Given the description of an element on the screen output the (x, y) to click on. 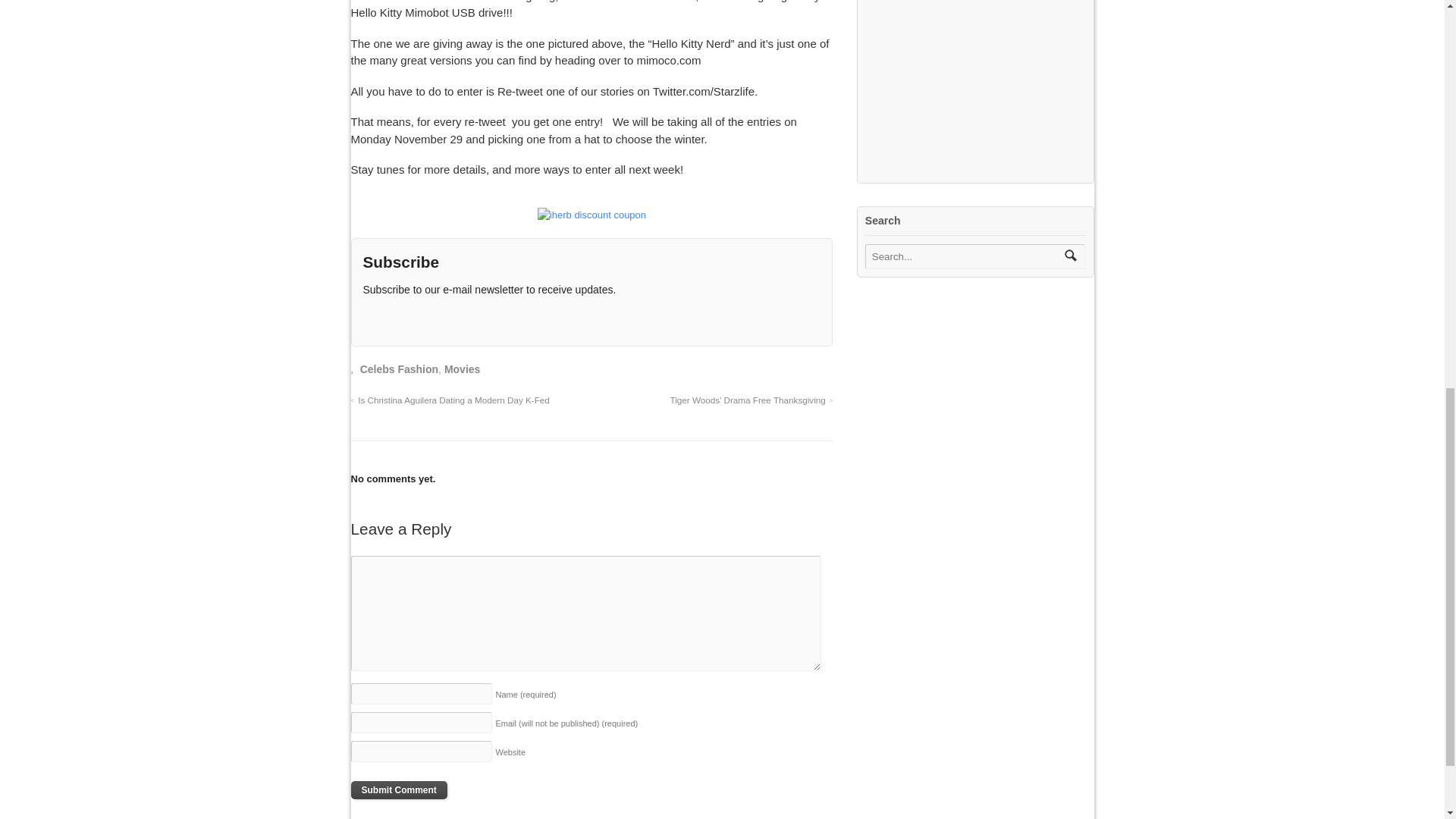
Submit Comment (398, 790)
Submit Comment (398, 790)
Search... (965, 256)
Facebook (424, 319)
Is Christina Aguilera Dating a Modern Day K-Fed (449, 399)
RSS (373, 319)
Movies (462, 369)
Celebs Fashion (398, 369)
LinkedIn (475, 319)
Twitter (399, 319)
YouTube (450, 319)
